Given the description of an element on the screen output the (x, y) to click on. 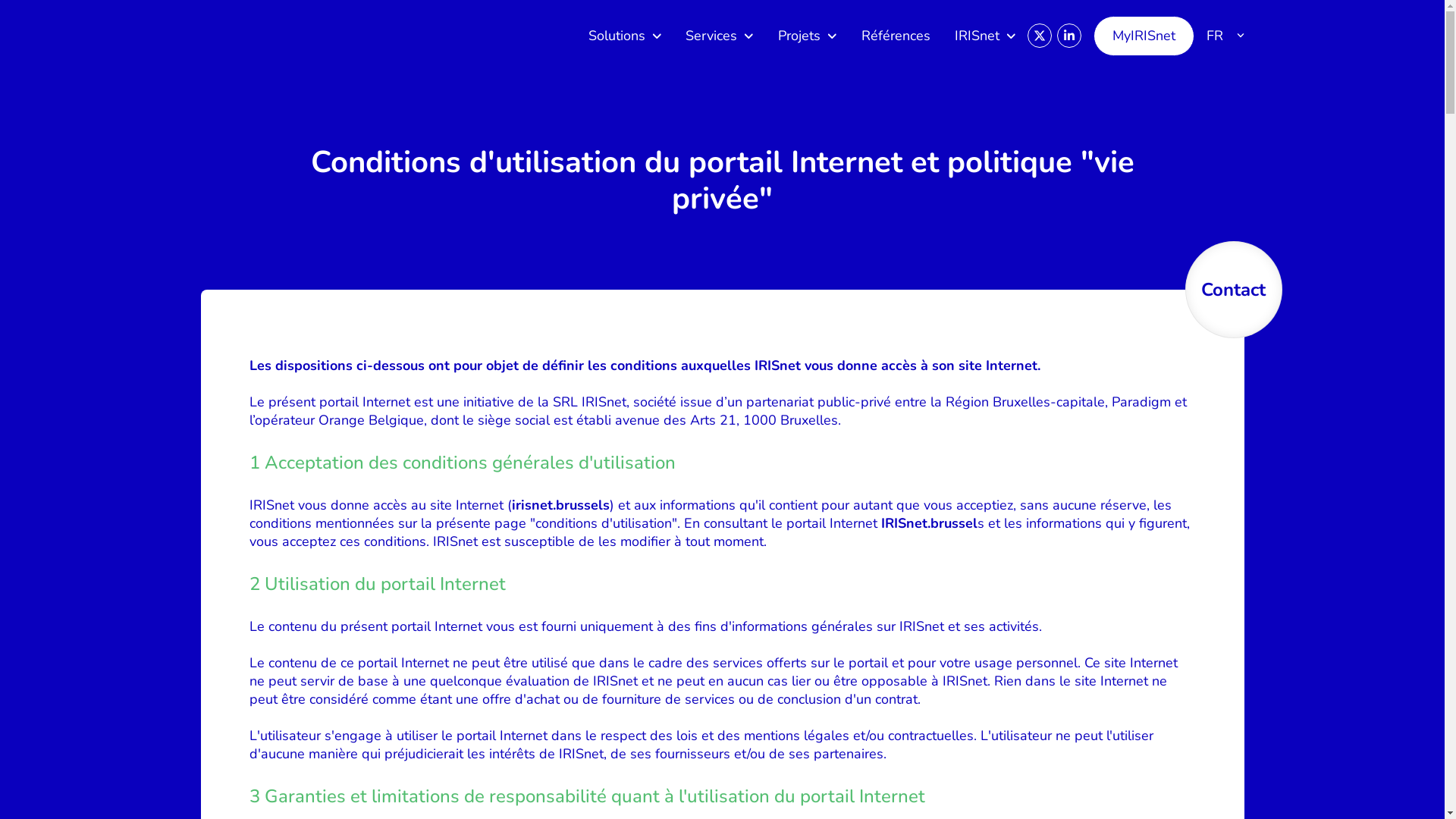
IRISnet Element type: text (985, 35)
Solutions Element type: text (625, 35)
Projets Element type: text (807, 35)
Contact Element type: text (1232, 289)
MyIRISnet Element type: text (1143, 35)
Services Element type: text (719, 35)
